Given the description of an element on the screen output the (x, y) to click on. 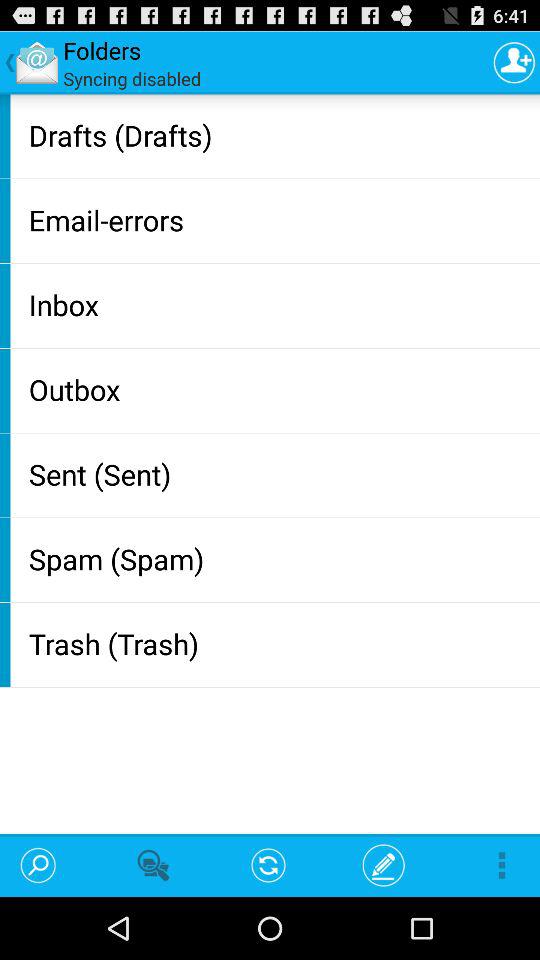
turn on item above the drafts (drafts) item (514, 62)
